Given the description of an element on the screen output the (x, y) to click on. 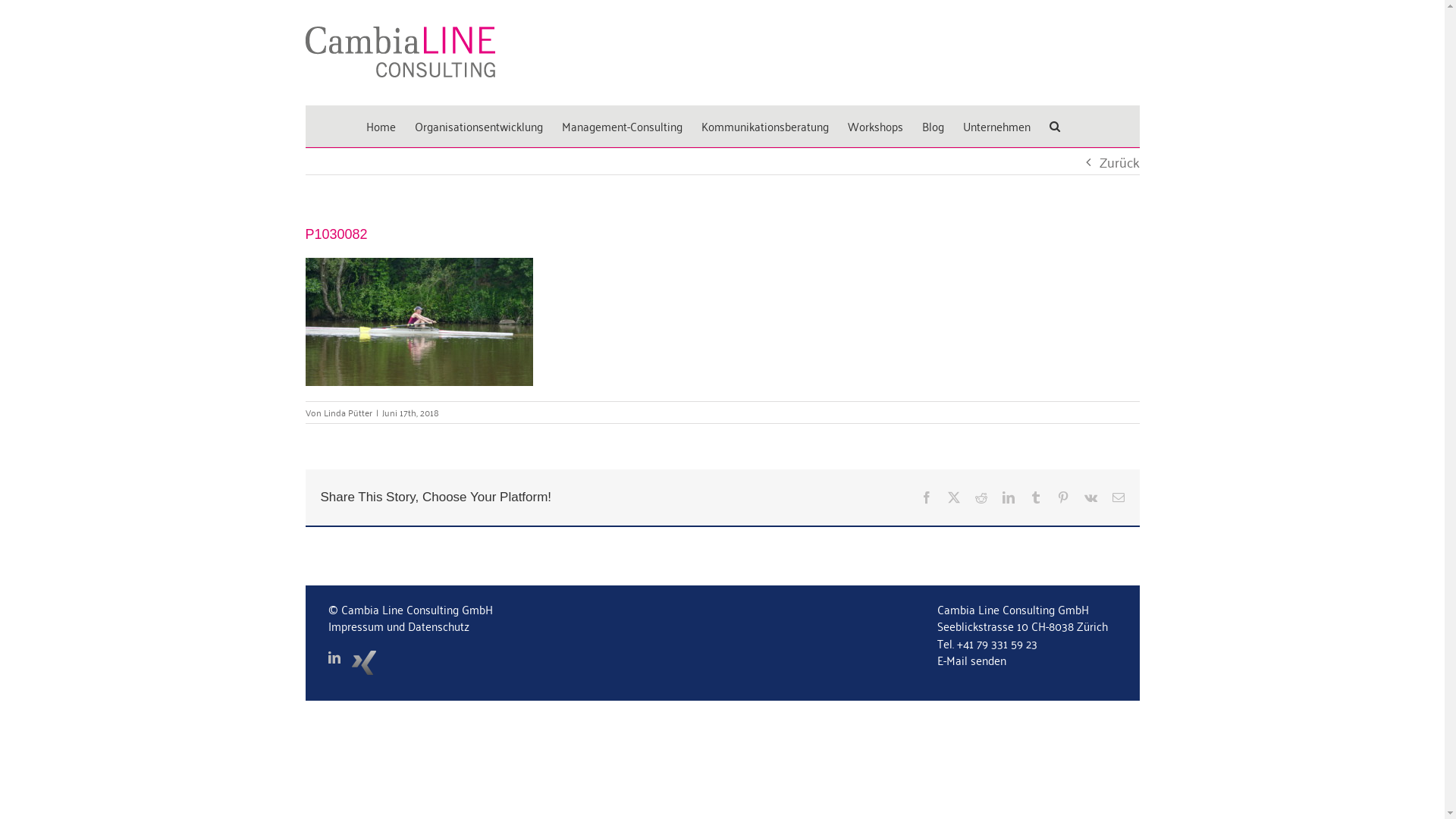
Suche Element type: hover (1054, 126)
Kommunikationsberatung Element type: text (764, 126)
Management-Consulting Element type: text (621, 126)
Impressum und Datenschutz Element type: text (397, 625)
Facebook Element type: text (926, 497)
LinkedIn Element type: text (1008, 497)
Tumblr Element type: text (1035, 497)
Organisationsentwicklung Element type: text (478, 126)
Vk Element type: text (1090, 497)
Workshops Element type: text (875, 126)
Home Element type: text (380, 126)
E-Mail Element type: text (1117, 497)
E-Mail senden Element type: text (971, 659)
Reddit Element type: text (981, 497)
Twitter Element type: text (953, 497)
Blog Element type: text (933, 126)
Pinterest Element type: text (1063, 497)
Unternehmen Element type: text (996, 126)
